Given the description of an element on the screen output the (x, y) to click on. 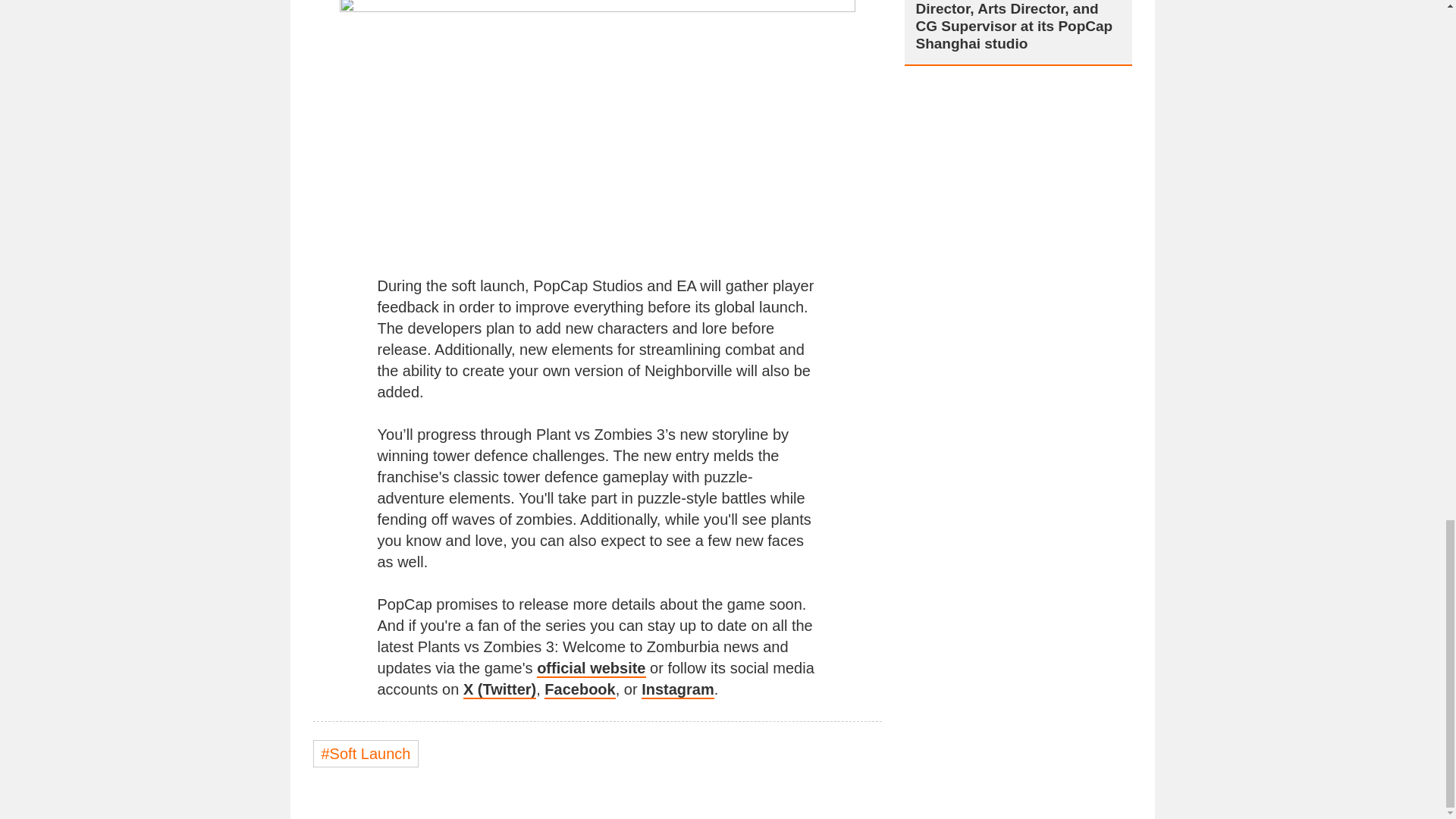
official website (591, 669)
Instagram (678, 689)
Facebook (579, 689)
